Given the description of an element on the screen output the (x, y) to click on. 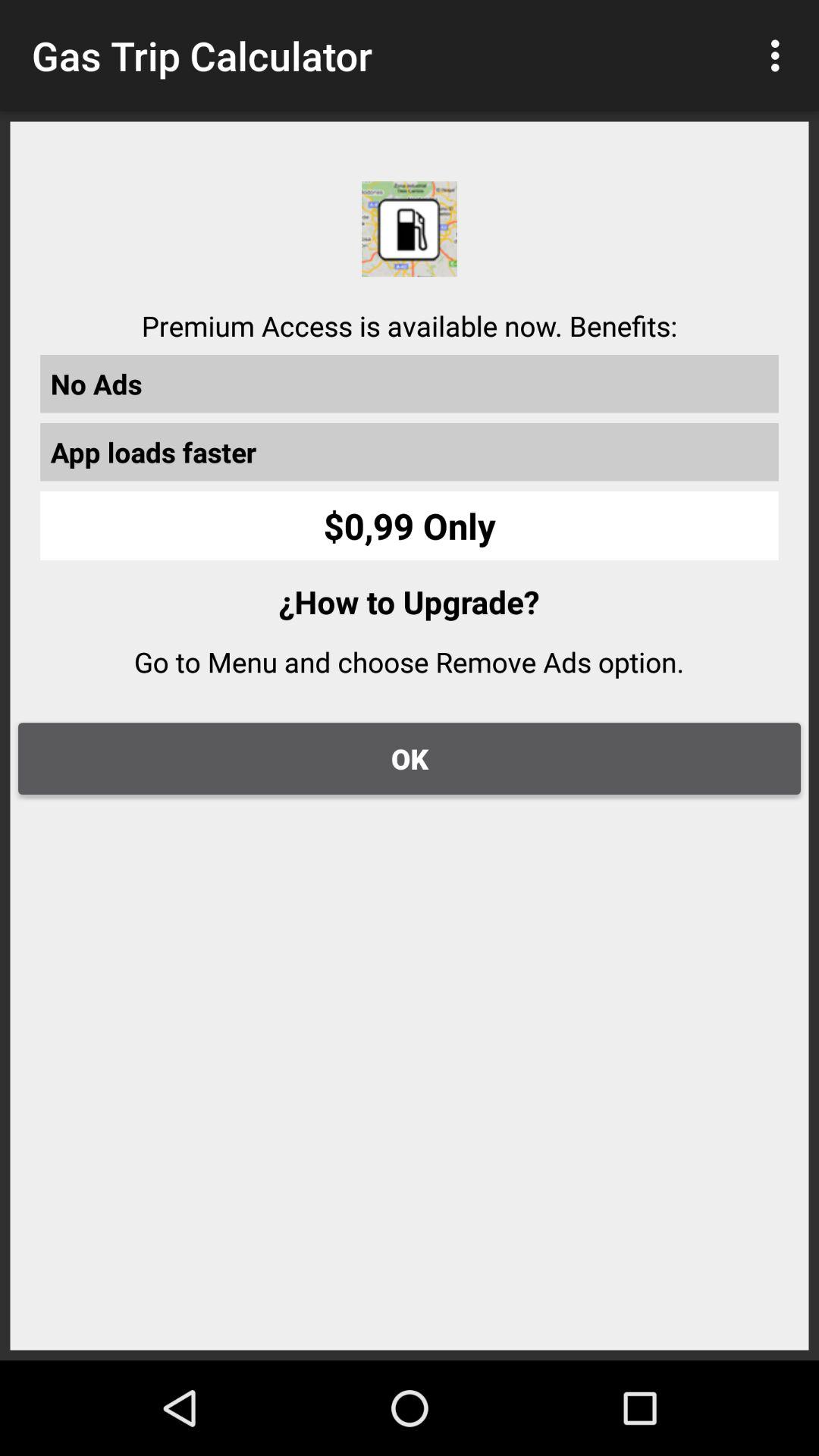
launch app below go to menu app (409, 758)
